Given the description of an element on the screen output the (x, y) to click on. 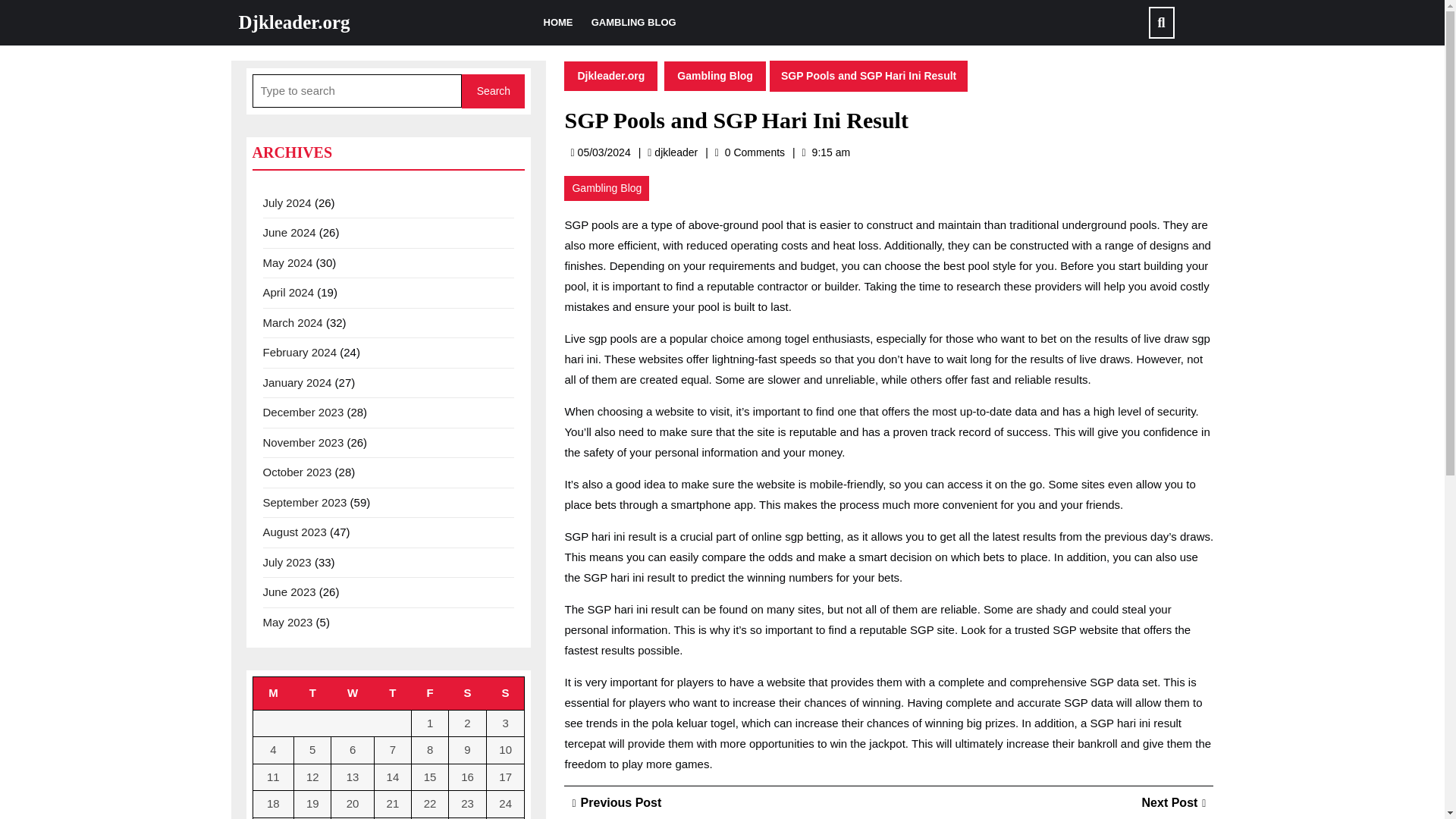
11 (272, 776)
Friday (430, 693)
17 (505, 776)
April 2024 (288, 291)
Wednesday (352, 693)
November 2023 (302, 440)
Search (492, 91)
13 (352, 776)
May 2023 (287, 621)
January 2024 (296, 382)
June 2024 (288, 232)
May 2024 (287, 262)
July 2023 (286, 561)
October 2023 (296, 472)
Djkleader.org (293, 22)
